Given the description of an element on the screen output the (x, y) to click on. 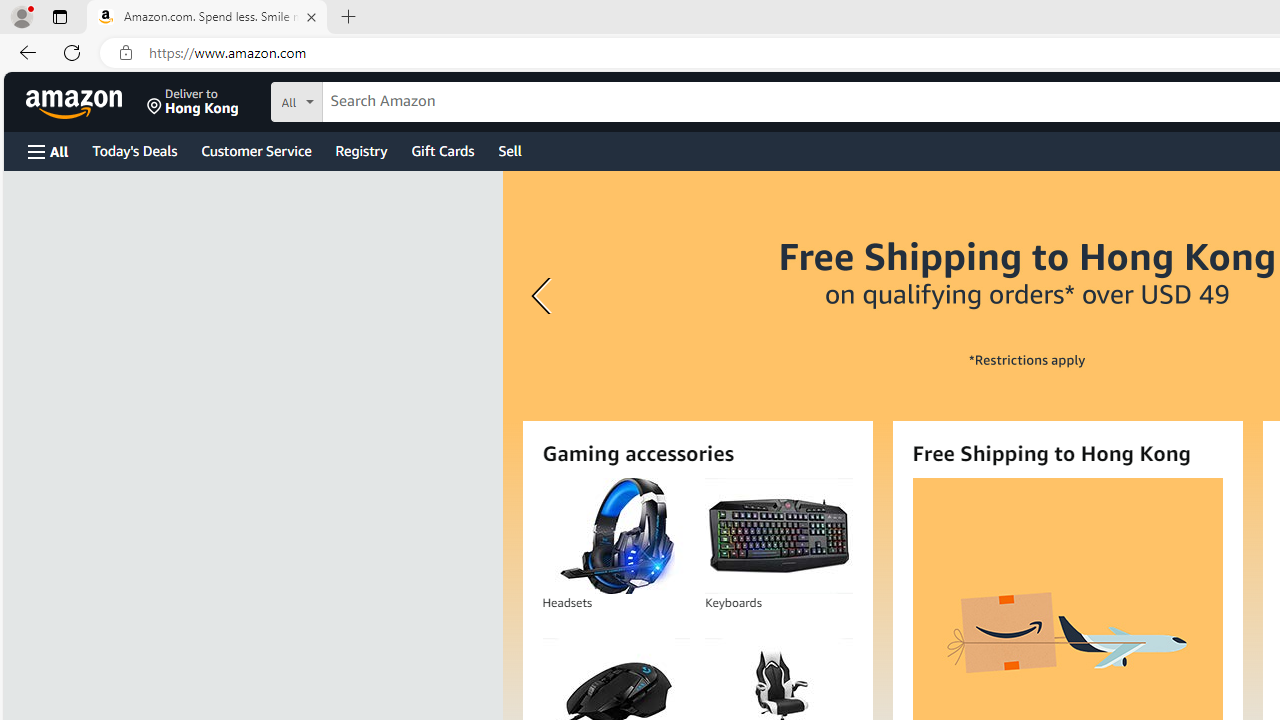
Run and Debug (Ctrl+Shift+D) (24, 202)
Keyboards (778, 536)
Amazon (76, 101)
File (52, 16)
Help (376, 16)
